Given the description of an element on the screen output the (x, y) to click on. 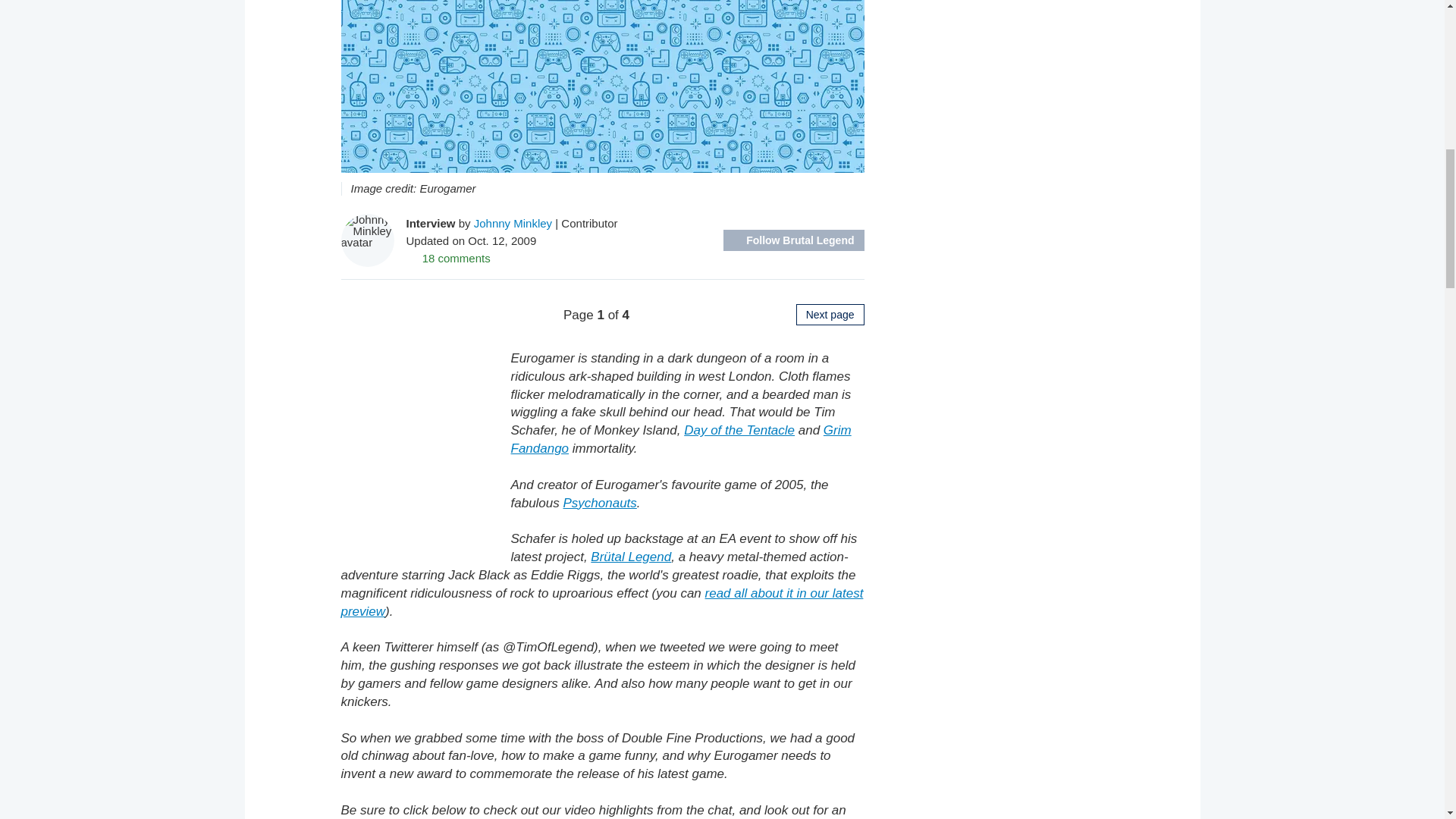
Johnny Minkley (512, 223)
Follow Brutal Legend (793, 240)
Next page (830, 314)
18 comments (448, 257)
Grim Fandango (681, 439)
Psychonauts (599, 503)
read all about it in our latest preview (601, 602)
Day of the Tentacle (739, 430)
